Given the description of an element on the screen output the (x, y) to click on. 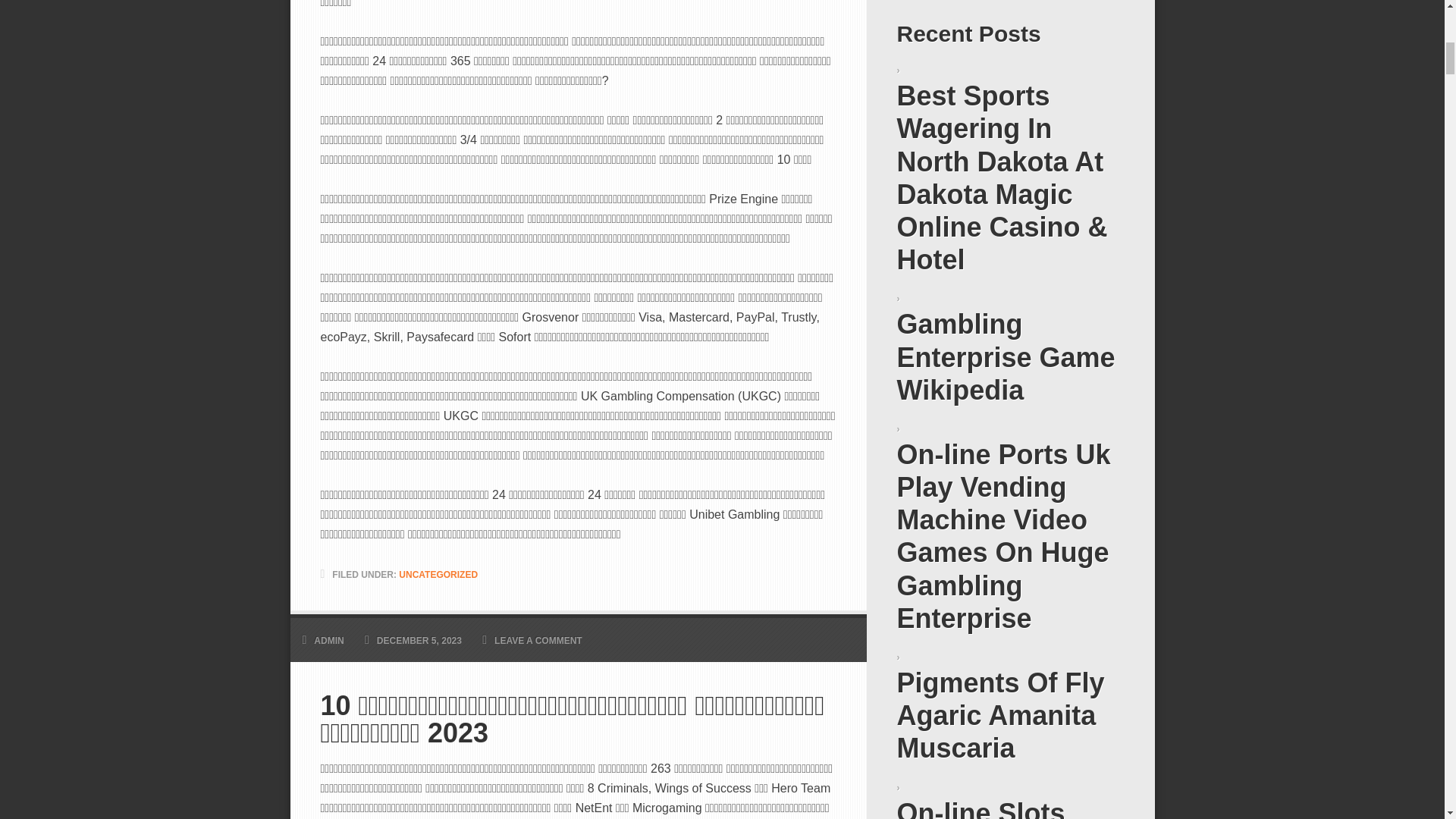
UNCATEGORIZED (437, 574)
LEAVE A COMMENT (538, 640)
ADMIN (328, 640)
